Given the description of an element on the screen output the (x, y) to click on. 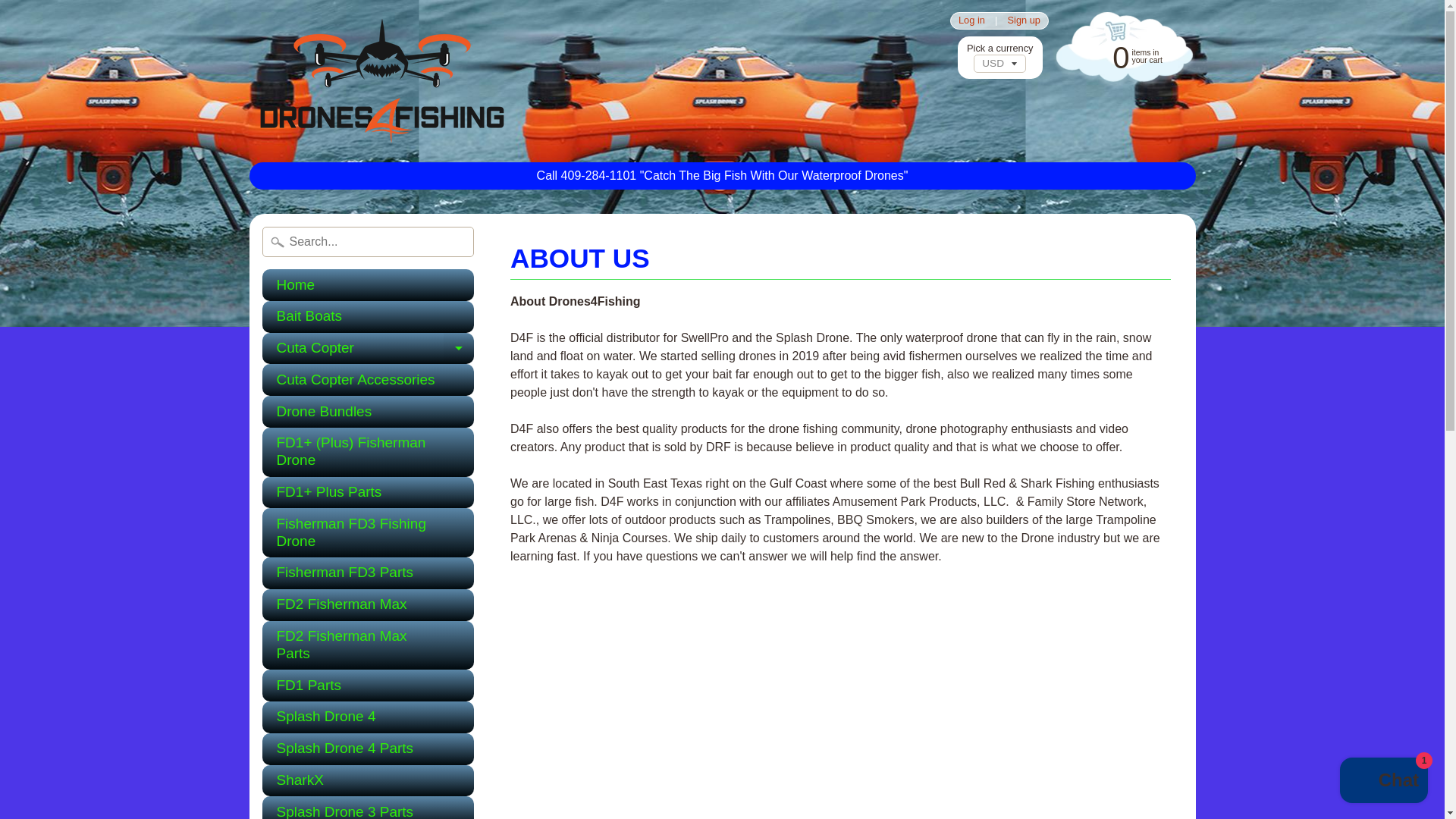
Home (368, 285)
Splash Drone 4 (368, 348)
Splash Drone 4 Parts (1122, 56)
Splash Drone 3 Parts (368, 717)
Fisherman FD3 Fishing Drone (368, 748)
Drone Bundles (368, 807)
Log in (368, 532)
Sign up (368, 411)
FD2 Fisherman Max (970, 20)
Cuta Copter Accessories (1024, 20)
Shopify online store chat (368, 604)
Drones4Fishing (368, 379)
FD2 Fisherman Max Parts (1383, 781)
